Given the description of an element on the screen output the (x, y) to click on. 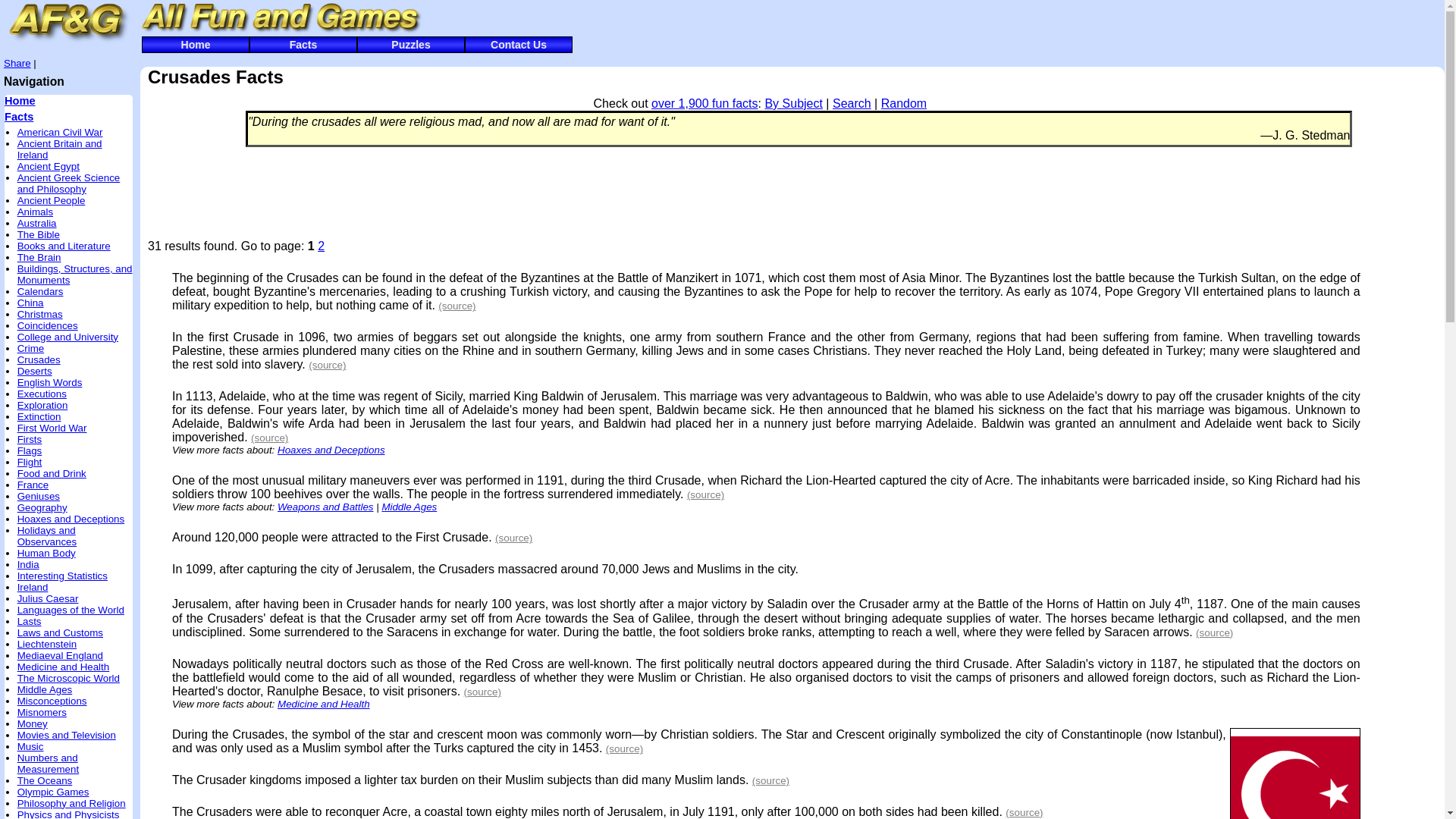
Share (17, 62)
Buildings, Structures, and Monuments (74, 273)
Australia (36, 223)
Advertisement (759, 192)
China (30, 302)
American Civil War (60, 132)
Animals (34, 211)
Home (194, 44)
Ancient Britain and Ireland (59, 149)
Christmas (39, 314)
Ancient People (51, 200)
Ancient Egypt (48, 165)
Home (19, 101)
The Bible (38, 234)
Coincidences (47, 325)
